Given the description of an element on the screen output the (x, y) to click on. 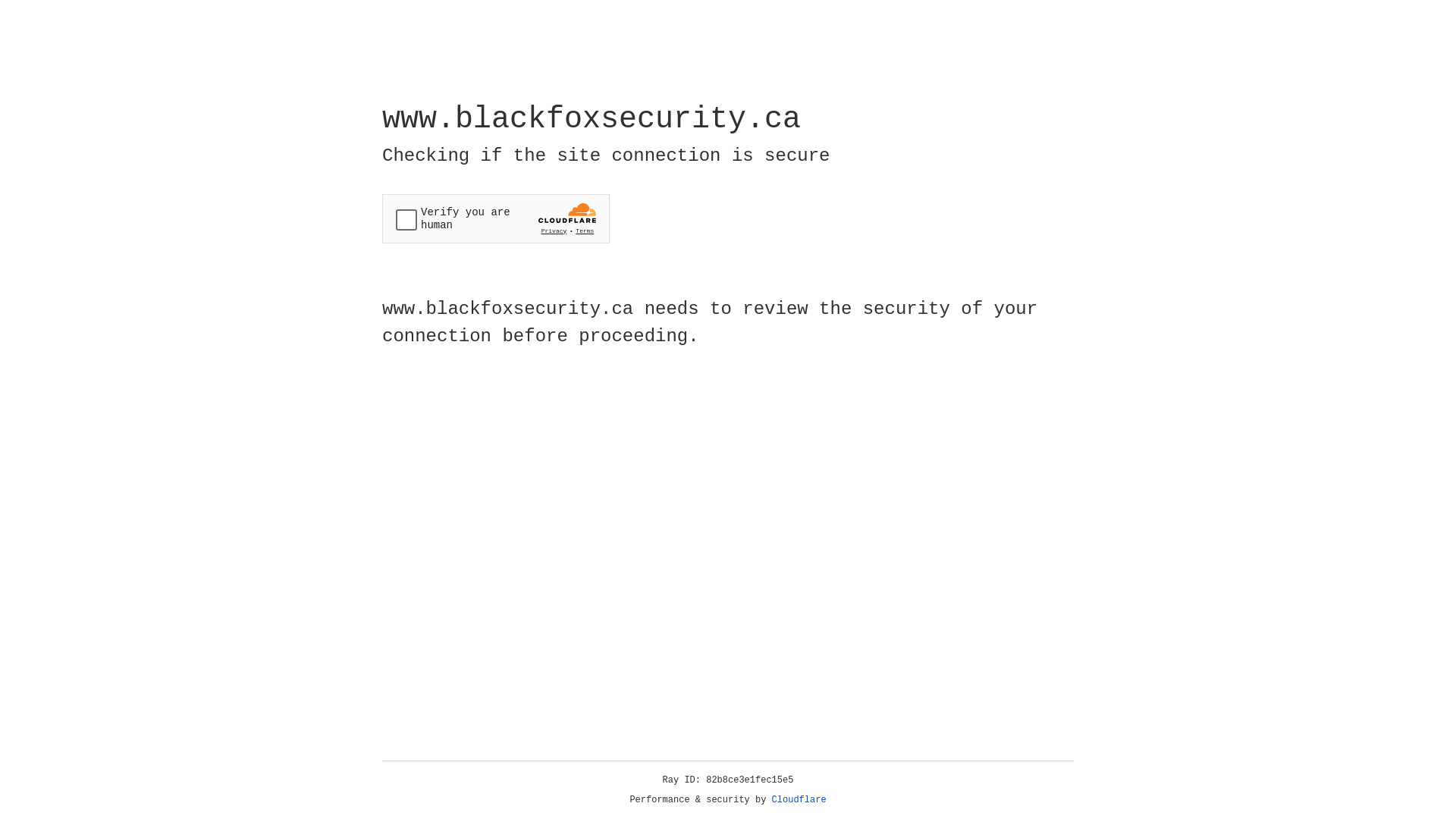
Cloudflare Element type: text (798, 799)
Widget containing a Cloudflare security challenge Element type: hover (495, 218)
